Given the description of an element on the screen output the (x, y) to click on. 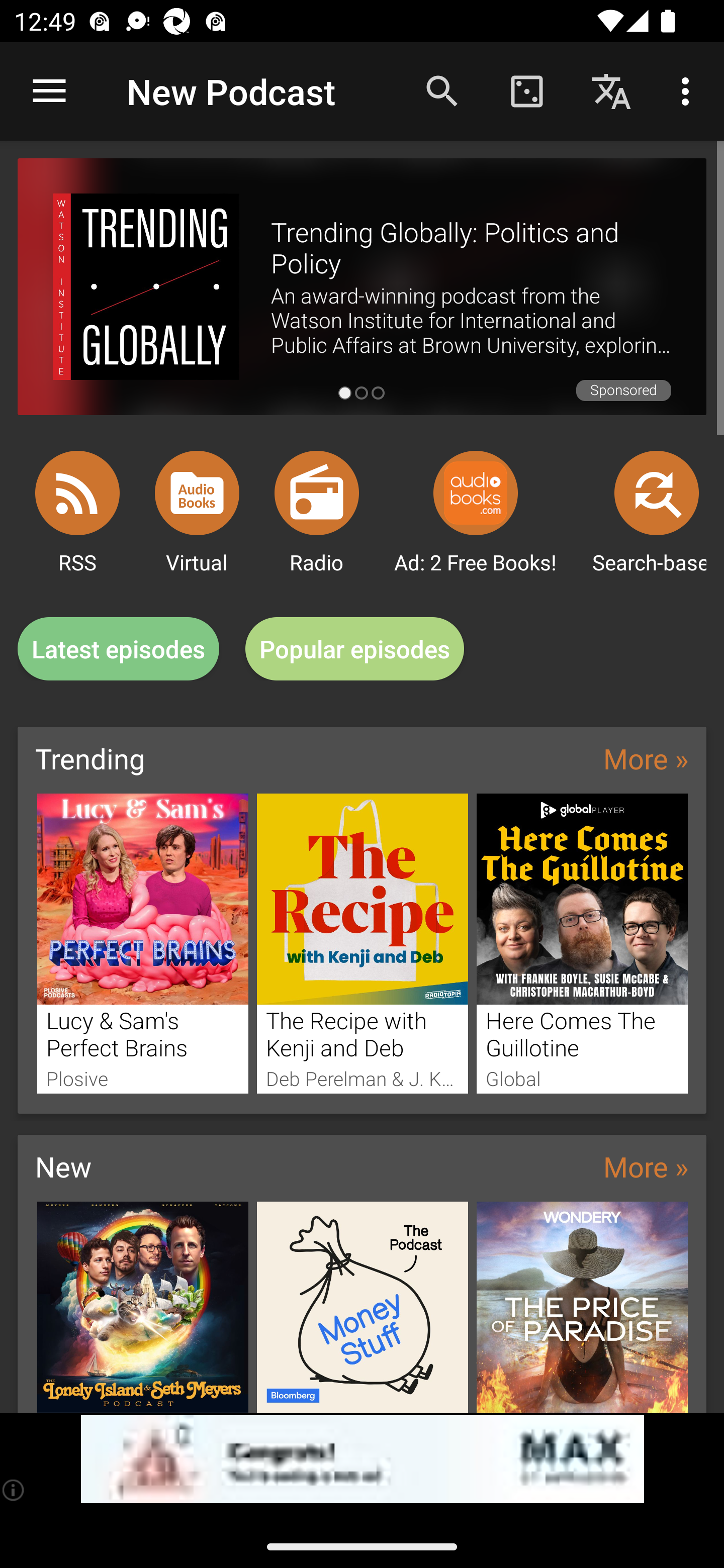
Open navigation sidebar (49, 91)
Search (442, 90)
Random pick (526, 90)
Podcast languages (611, 90)
More options (688, 90)
RSS (77, 492)
Virtual (196, 492)
Radio (316, 492)
Search-based (656, 492)
Latest episodes (118, 648)
Popular episodes (354, 648)
More » (645, 757)
Lucy & Sam's Perfect Brains Plosive (142, 942)
Here Comes The Guillotine Global (581, 942)
More » (645, 1166)
The Lonely Island and Seth Meyers Podcast (142, 1306)
Money Stuff: The Podcast (362, 1306)
The Price of Paradise (581, 1306)
app-monetization (362, 1459)
(i) (14, 1489)
